Given the description of an element on the screen output the (x, y) to click on. 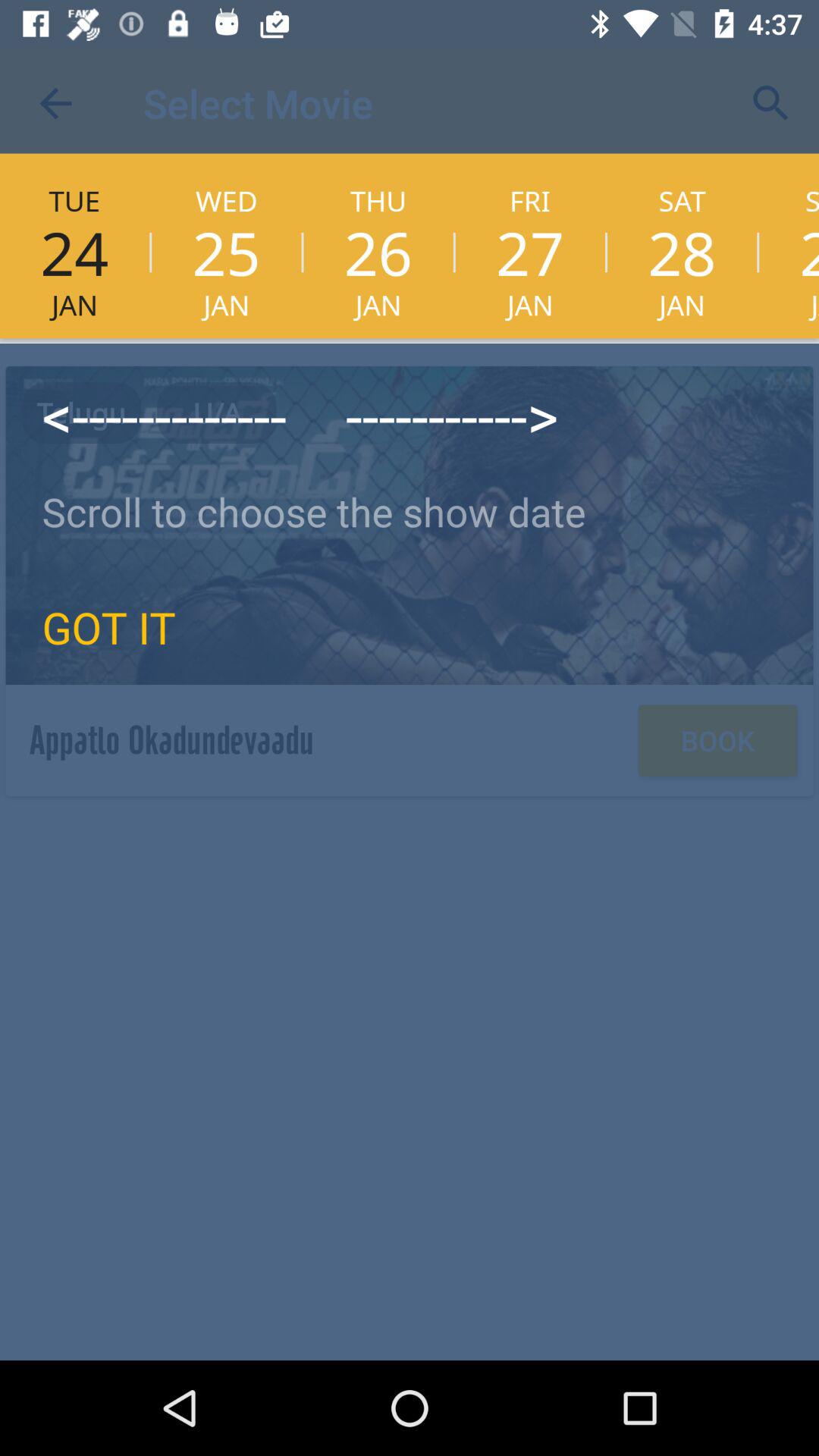
open the item above the tue item (55, 103)
